Given the description of an element on the screen output the (x, y) to click on. 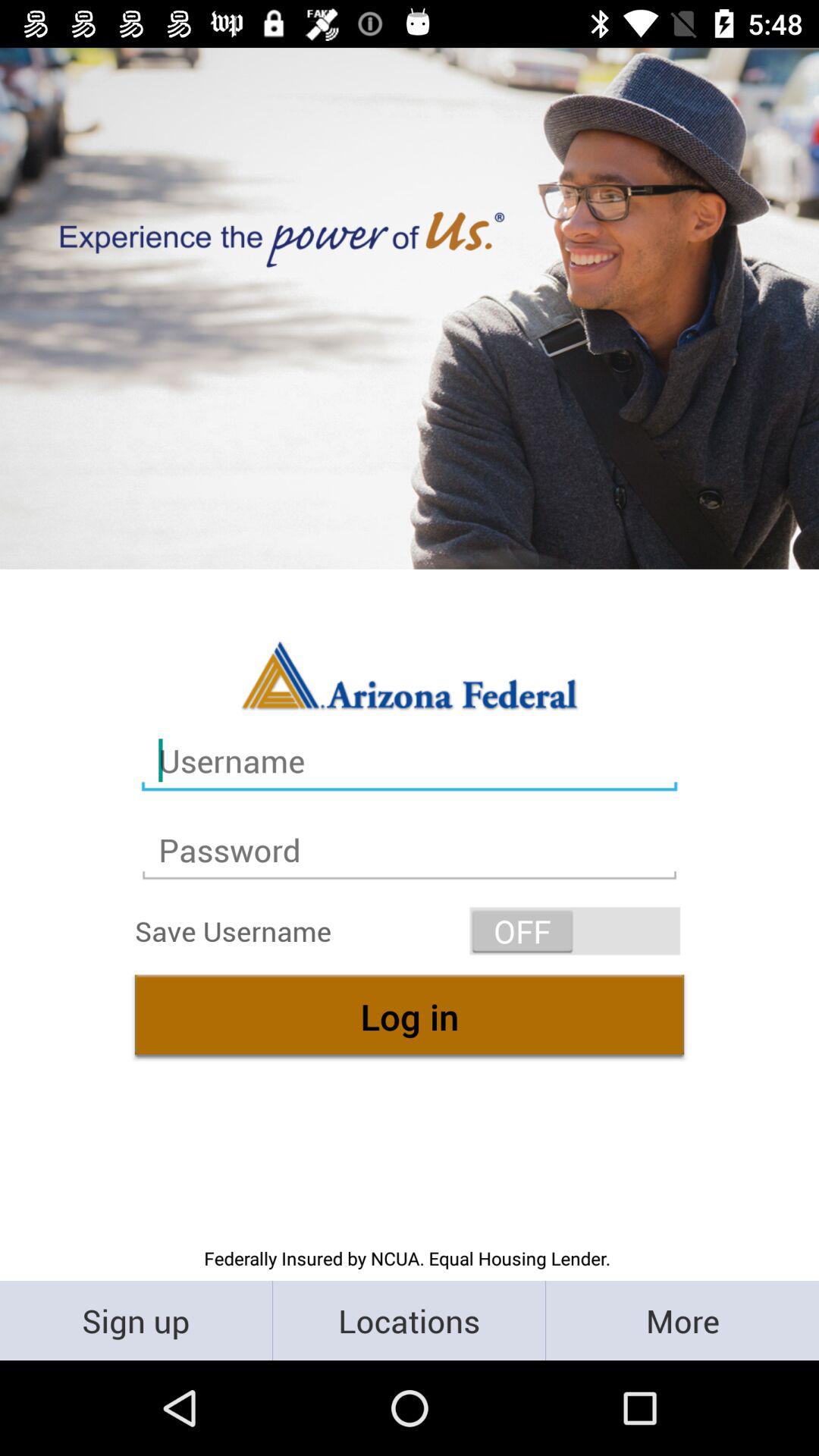
press item to the right of locations icon (682, 1320)
